Given the description of an element on the screen output the (x, y) to click on. 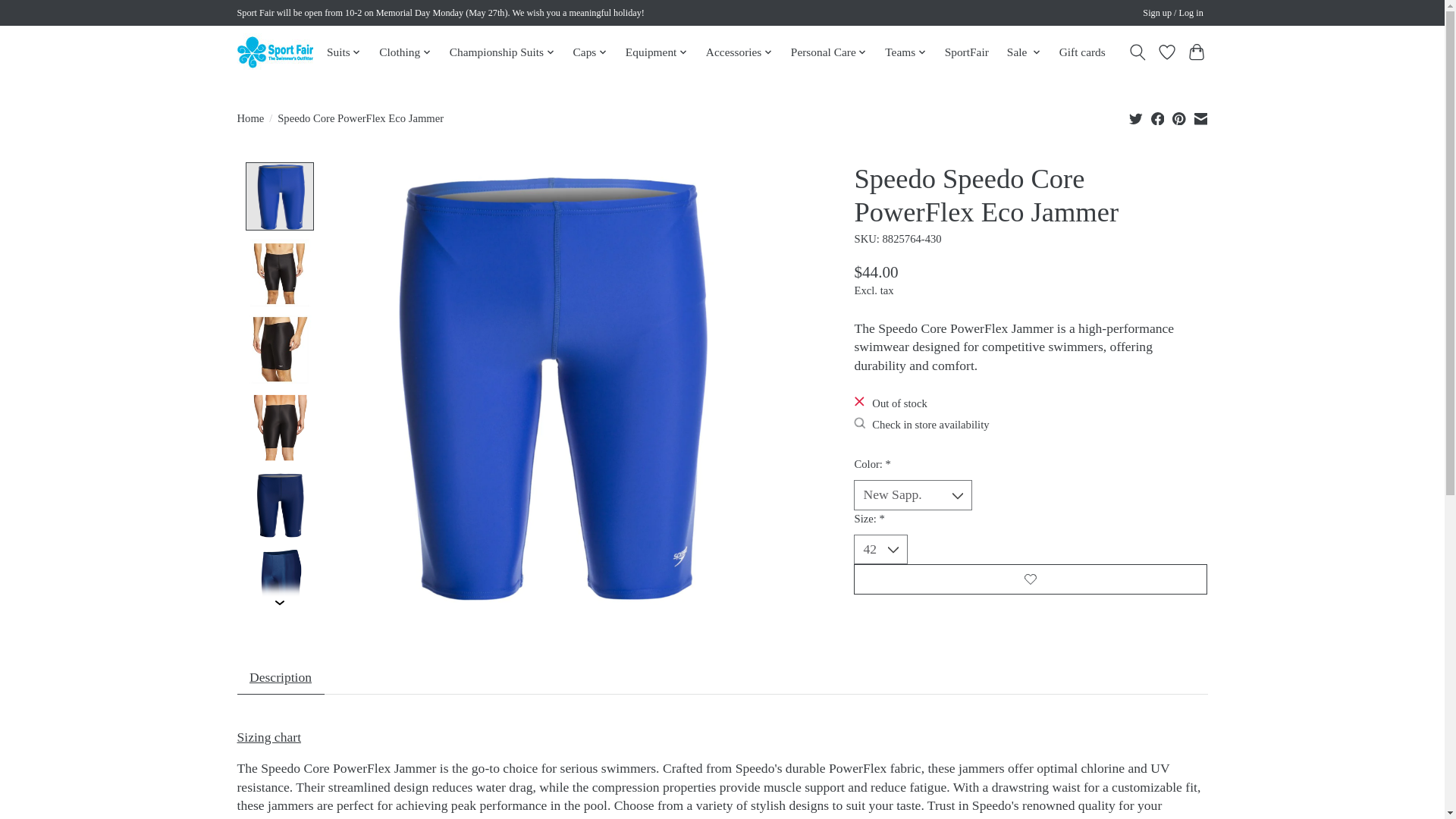
Share on Facebook (1157, 118)
Share on Twitter (1135, 118)
Equipment (656, 52)
Championship Suits (501, 52)
Share by Email (1200, 118)
Caps (589, 52)
Suits (343, 52)
My account (1173, 13)
Sportfairusa.com. Welcome All Competitive Swimmers. (274, 51)
Clothing (405, 52)
